Given the description of an element on the screen output the (x, y) to click on. 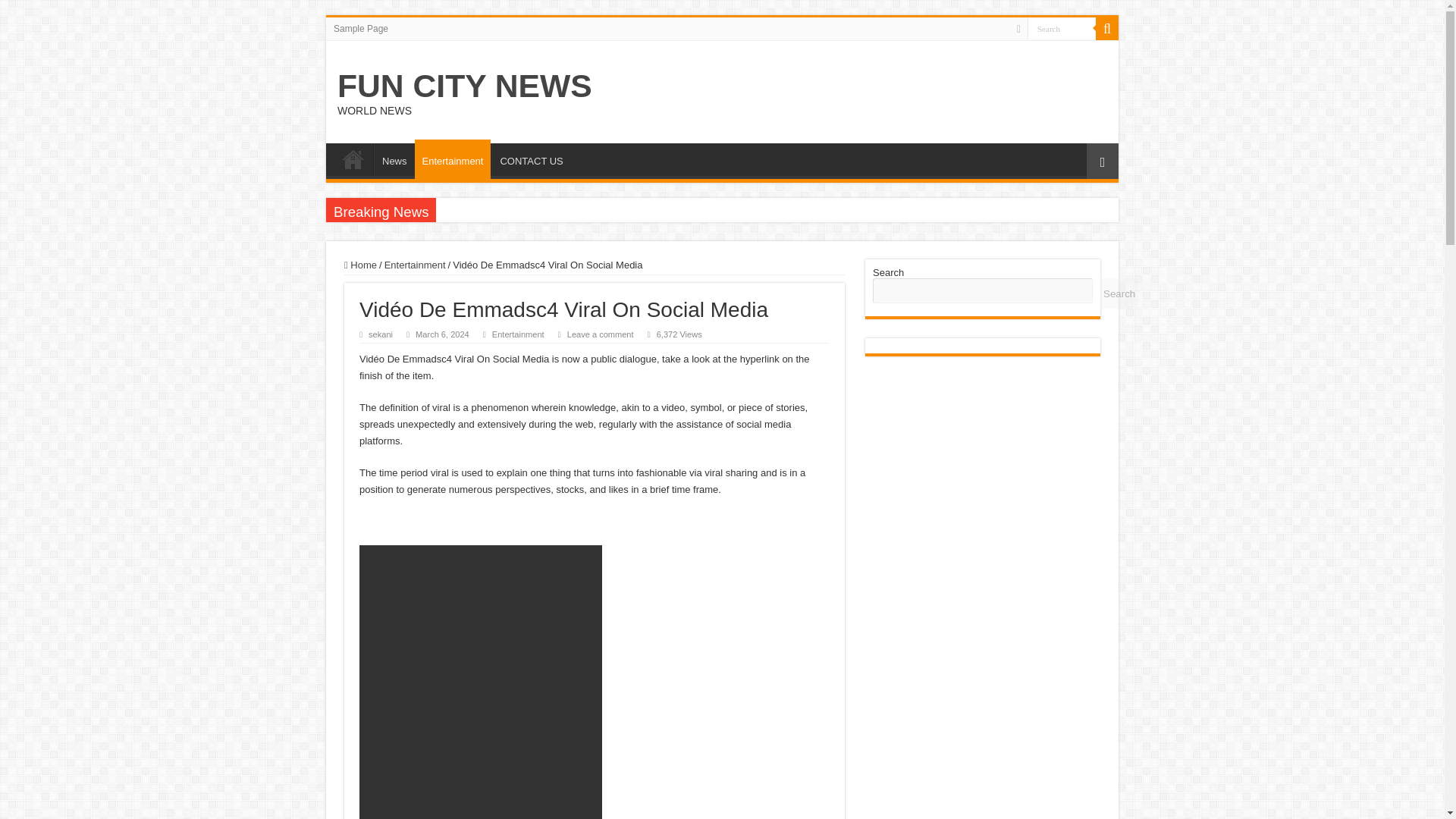
CONTACT US (531, 159)
FUN CITY NEWS (464, 85)
Search (1061, 28)
Leave a comment (600, 334)
Entertainment (453, 159)
Home (360, 265)
Search (1061, 28)
sekani (380, 334)
Sample Page (361, 28)
News (394, 159)
